Given the description of an element on the screen output the (x, y) to click on. 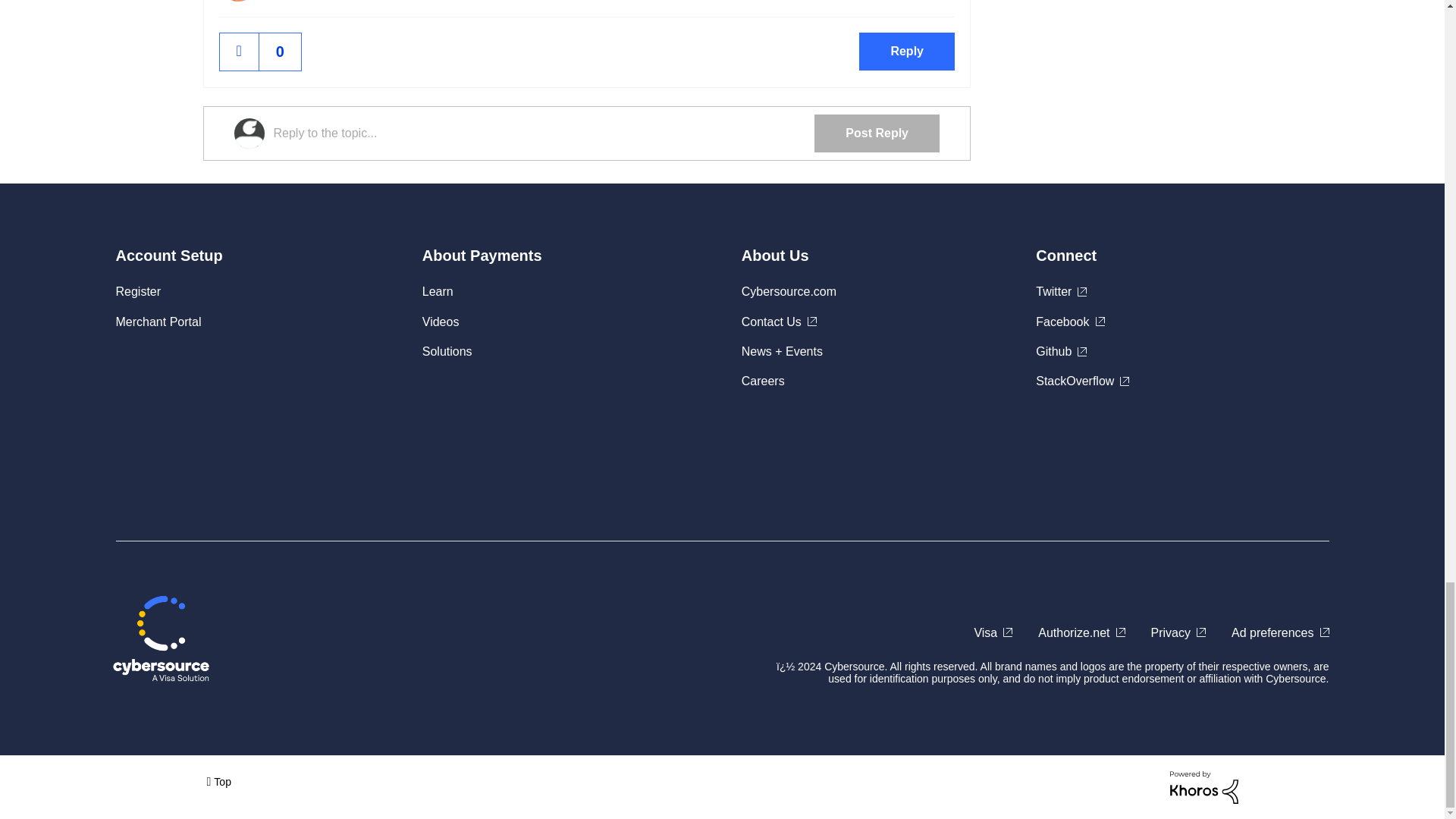
Top (218, 780)
Top (218, 780)
